Given the description of an element on the screen output the (x, y) to click on. 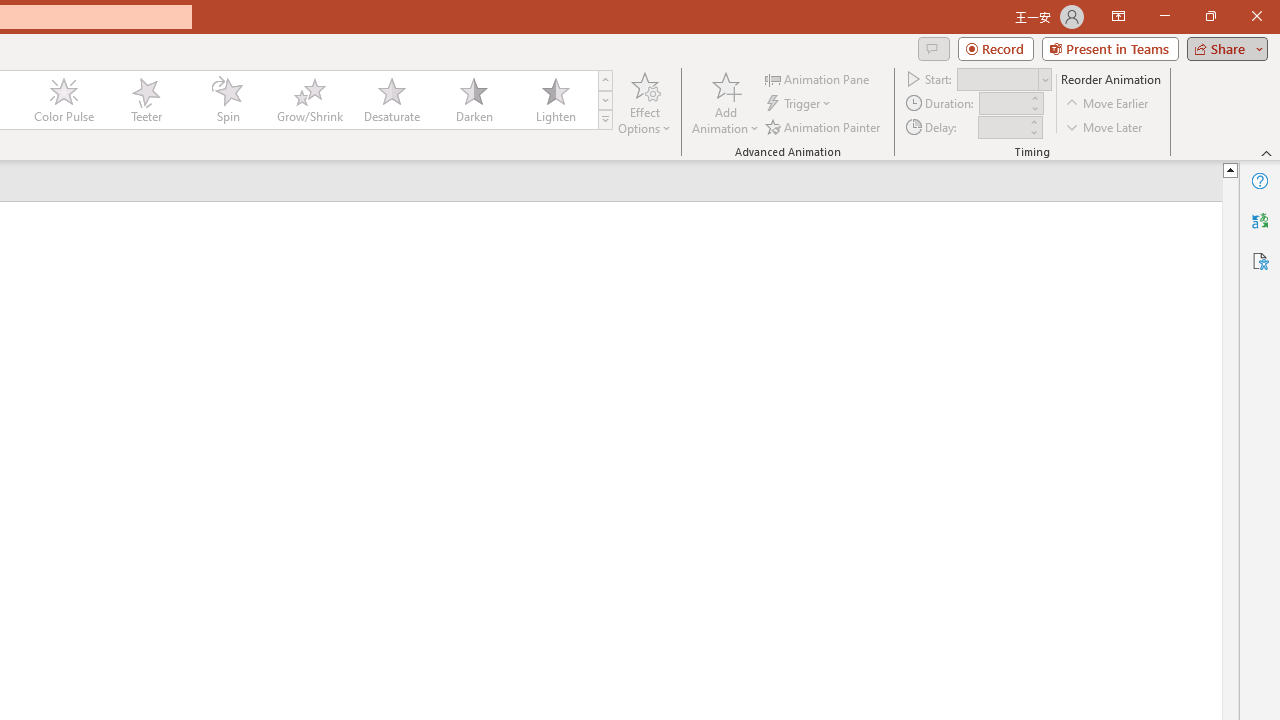
Darken (473, 100)
Effect Options (644, 102)
Teeter (145, 100)
Animation Pane (818, 78)
